Given the description of an element on the screen output the (x, y) to click on. 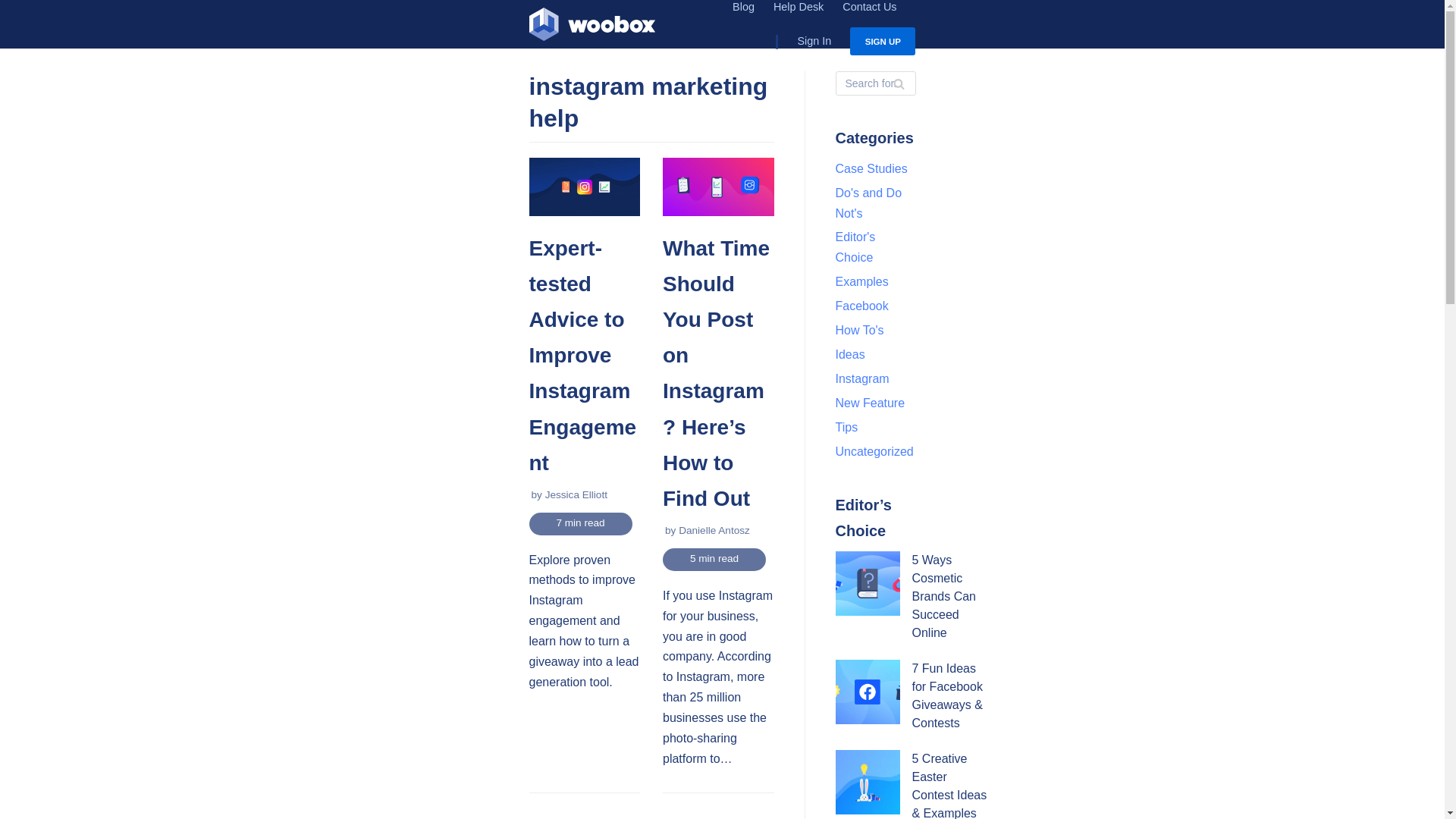
Tips (847, 427)
New Feature (870, 402)
Editor's Choice (855, 246)
Jessica Elliott (575, 494)
Skip to content (15, 7)
Instagram (862, 378)
Do's and Do Not's (868, 203)
Woobox Blog (592, 27)
How To's (859, 329)
Examples (861, 281)
